Given the description of an element on the screen output the (x, y) to click on. 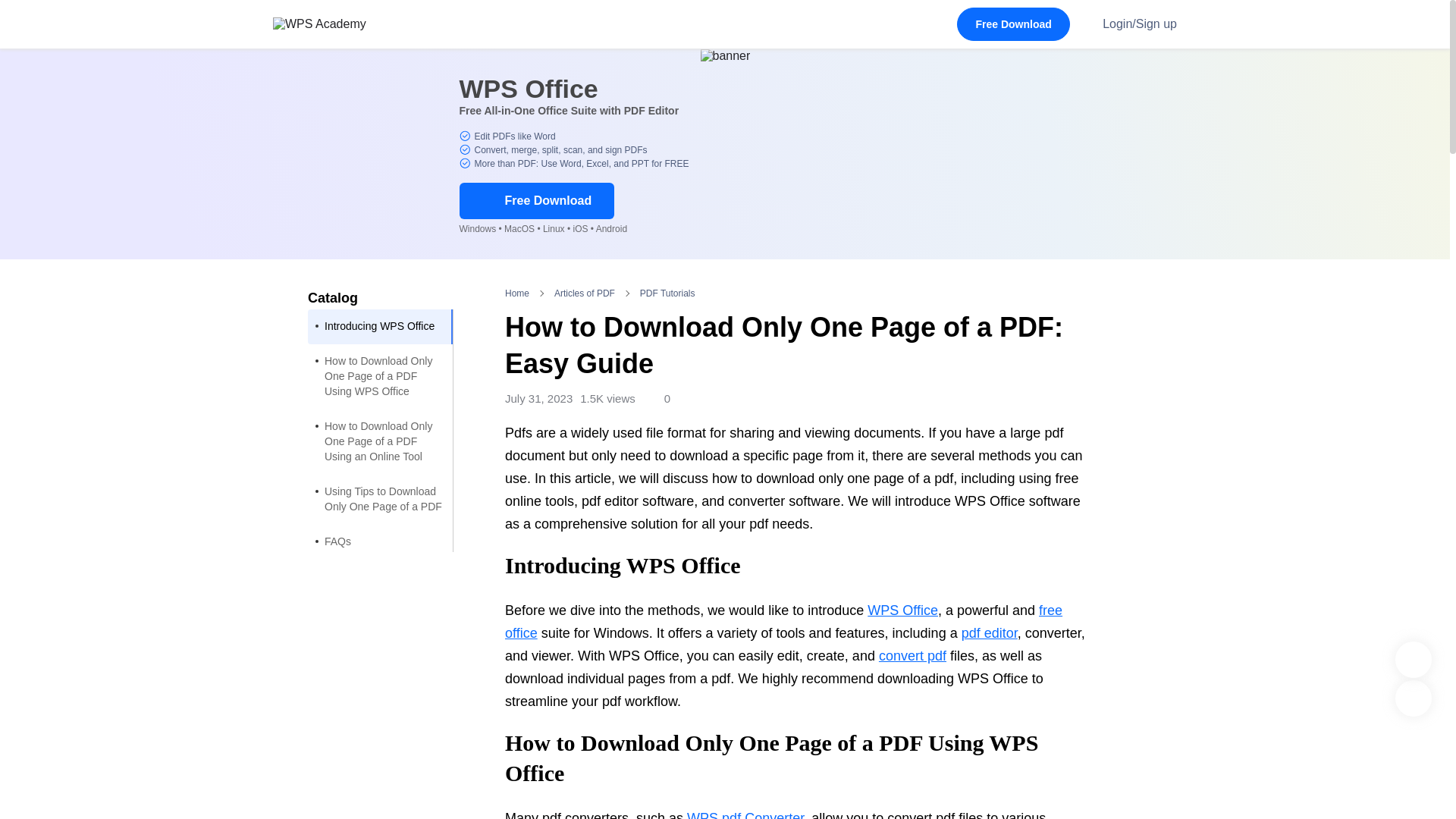
View free office (783, 621)
WPS pdf Converter (745, 814)
How to Download Only One Page of a PDF Using WPS Office (379, 376)
pdf editor (988, 632)
FAQs (379, 541)
Final Thoughts on How to Download Only One Page of a PDF (379, 591)
View WPS Office (902, 610)
Articles of PDF (584, 293)
How to Download Only One Page of a PDF Using an Online Tool (379, 442)
View convert pdf (912, 655)
WPS Office (902, 610)
Home (517, 293)
convert pdf (912, 655)
Using Tips to Download Only One Page of a PDF (379, 499)
Introducing WPS Office (379, 326)
